Given the description of an element on the screen output the (x, y) to click on. 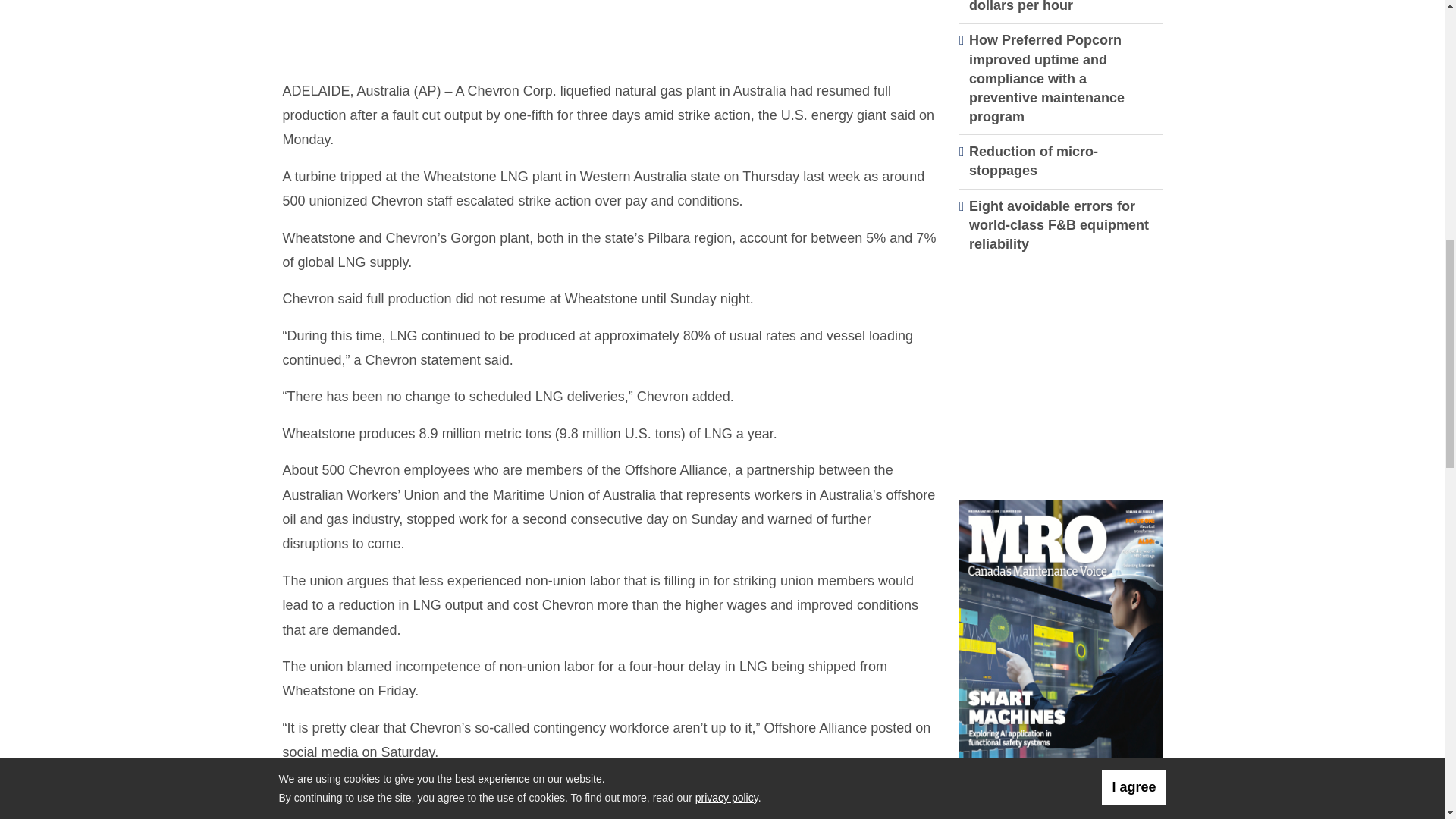
3rd party ad content (1060, 371)
